Given the description of an element on the screen output the (x, y) to click on. 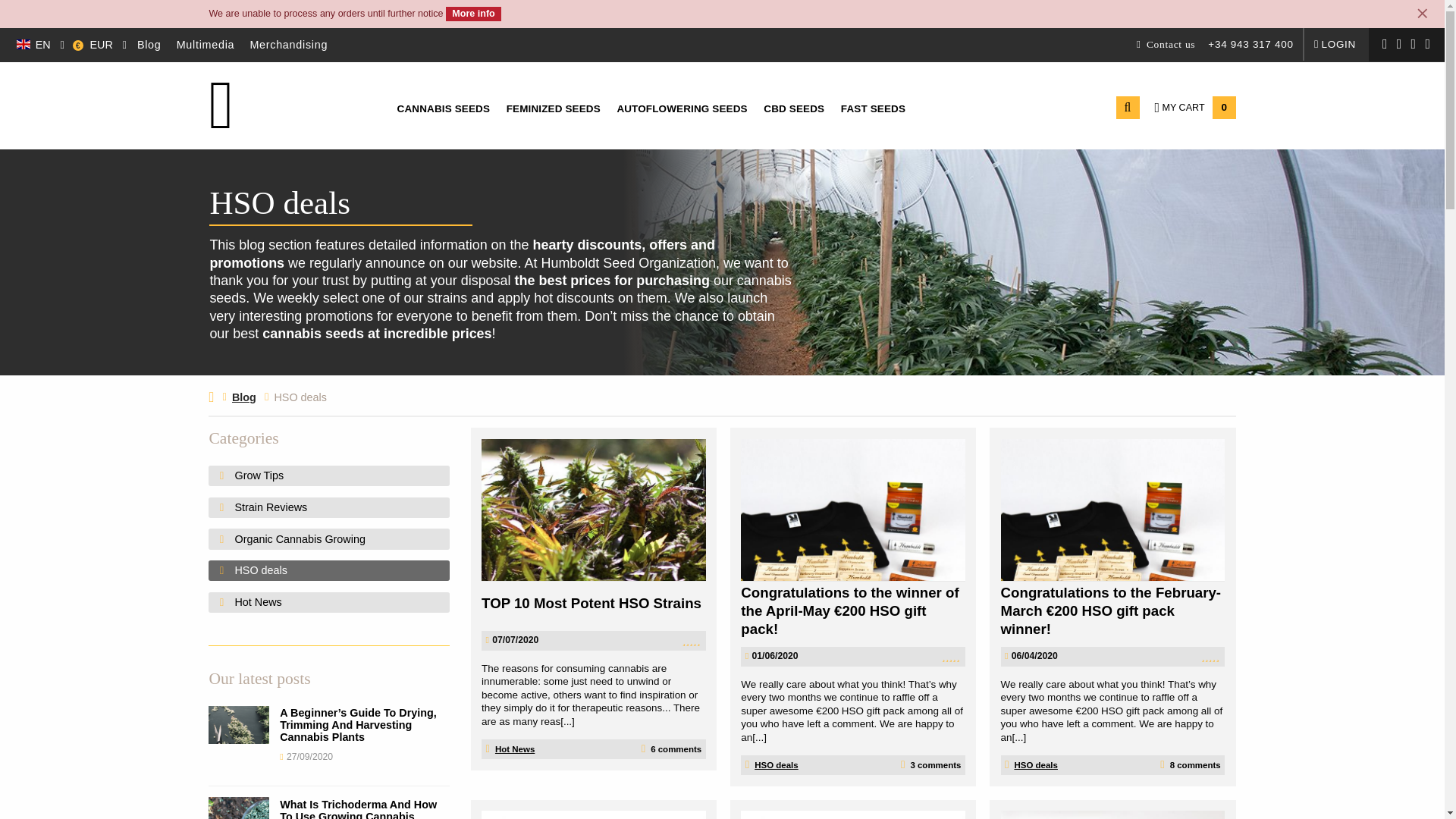
Blog (148, 44)
More info (472, 13)
